Given the description of an element on the screen output the (x, y) to click on. 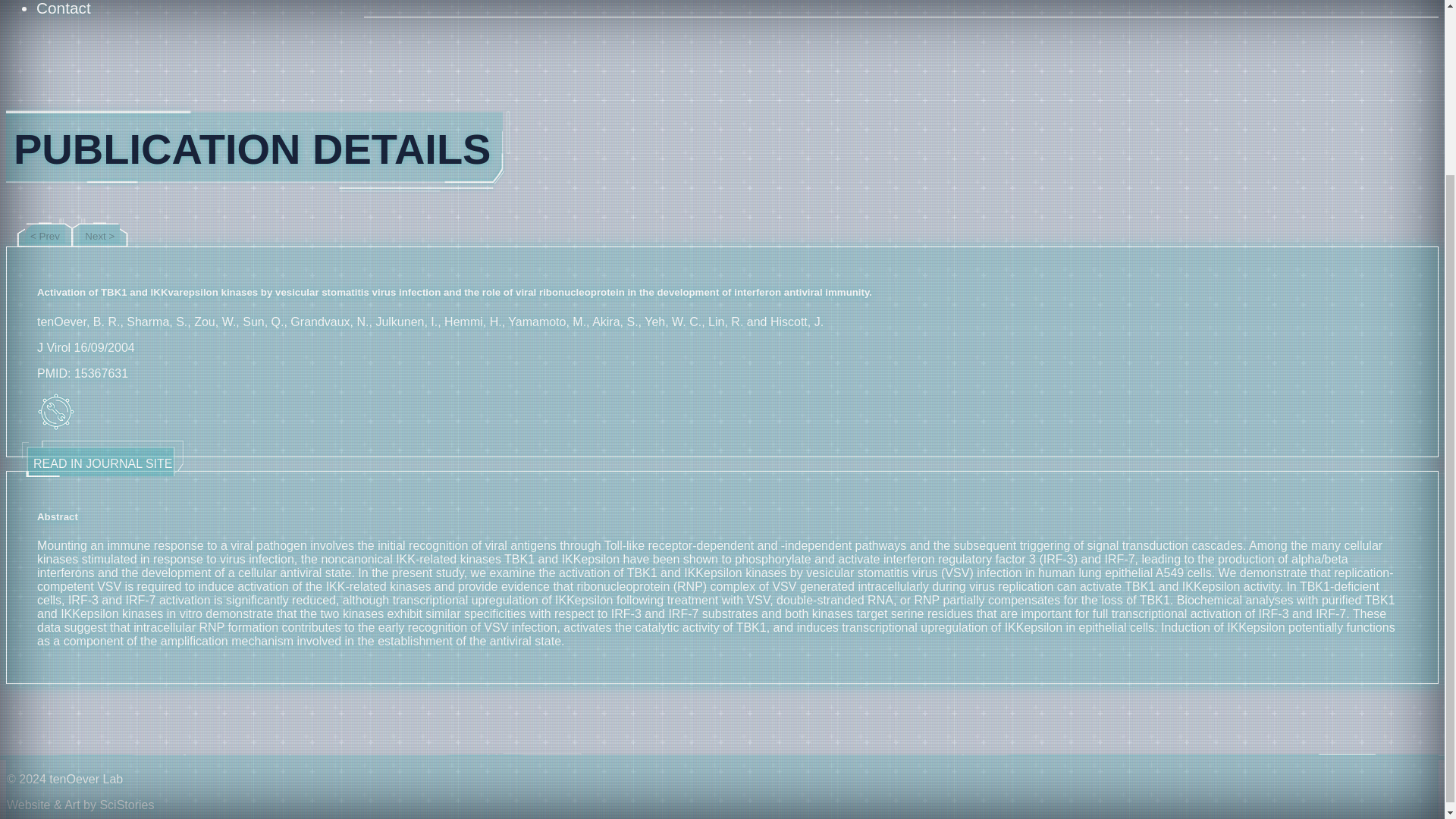
SciStories (126, 804)
Contact (63, 8)
READ IN JOURNAL SITE (102, 460)
